Given the description of an element on the screen output the (x, y) to click on. 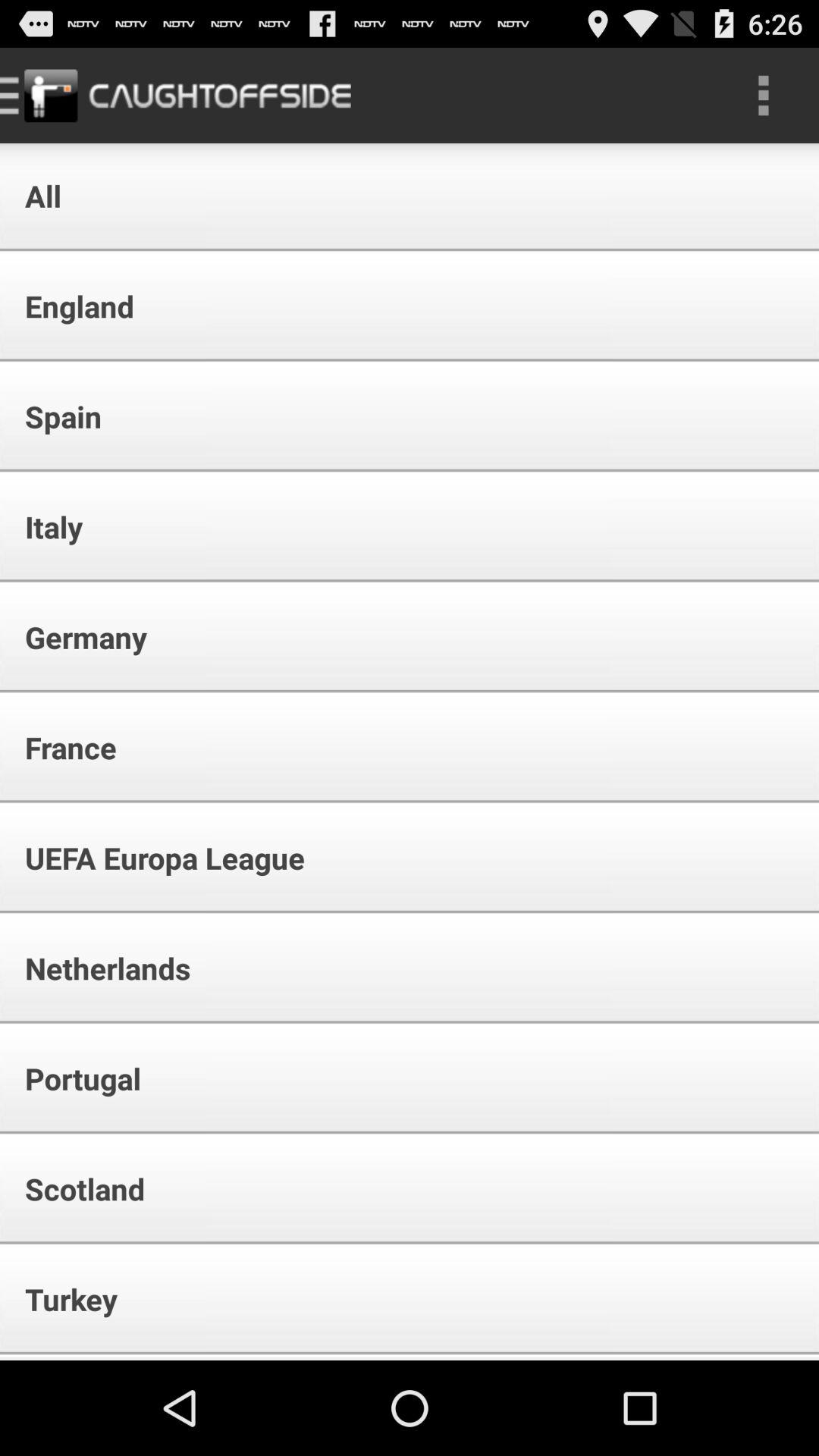
choose app below the spain item (44, 526)
